Given the description of an element on the screen output the (x, y) to click on. 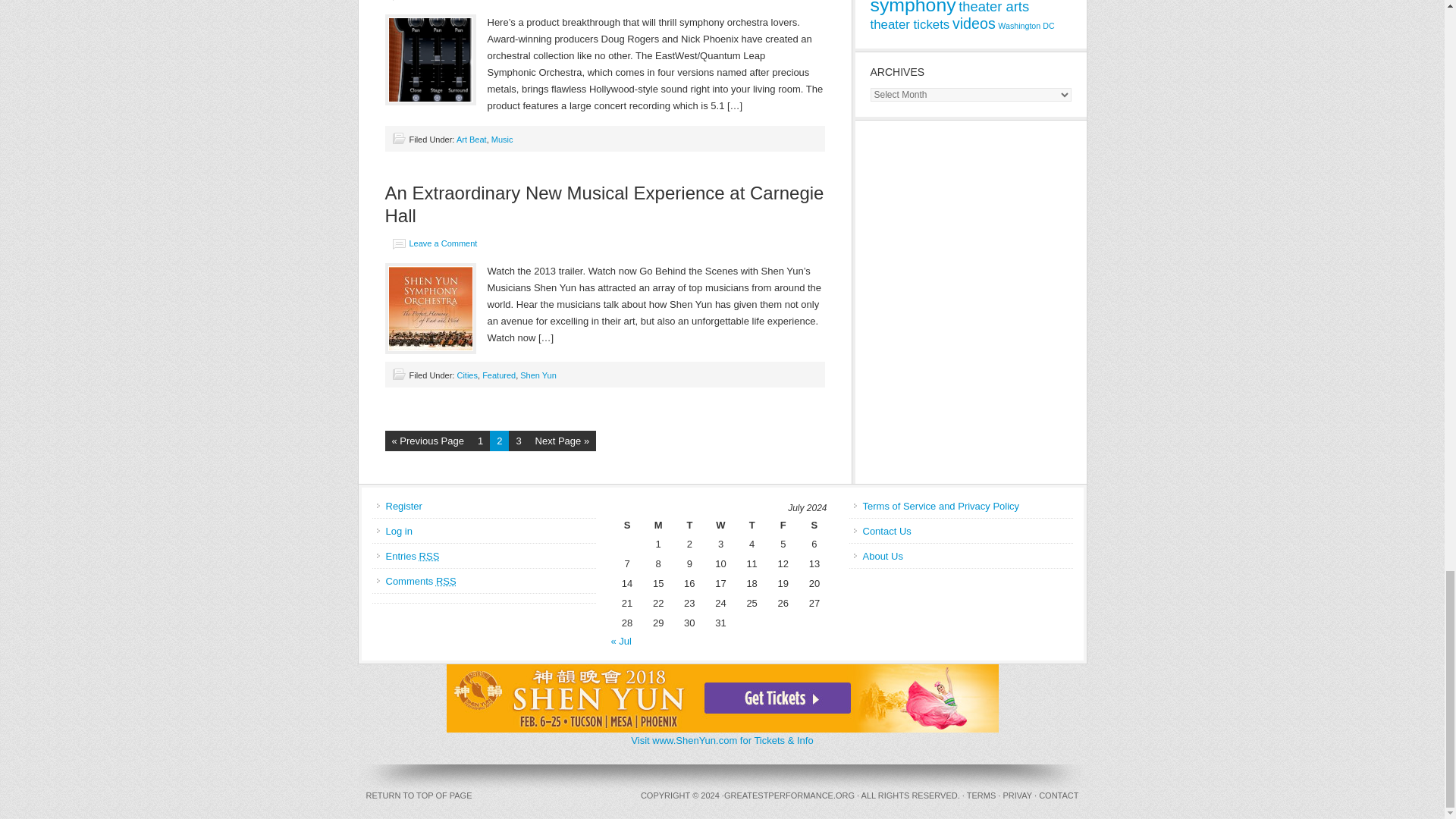
Friday (782, 524)
Sunday (627, 524)
Syndicate this site using RSS 2.0 (412, 555)
Really Simple Syndication (429, 555)
Thursday (751, 524)
Monday (657, 524)
Wednesday (720, 524)
Really Simple Syndication (446, 581)
Tuesday (689, 524)
The latest comments to all posts in RSS (420, 581)
